Given the description of an element on the screen output the (x, y) to click on. 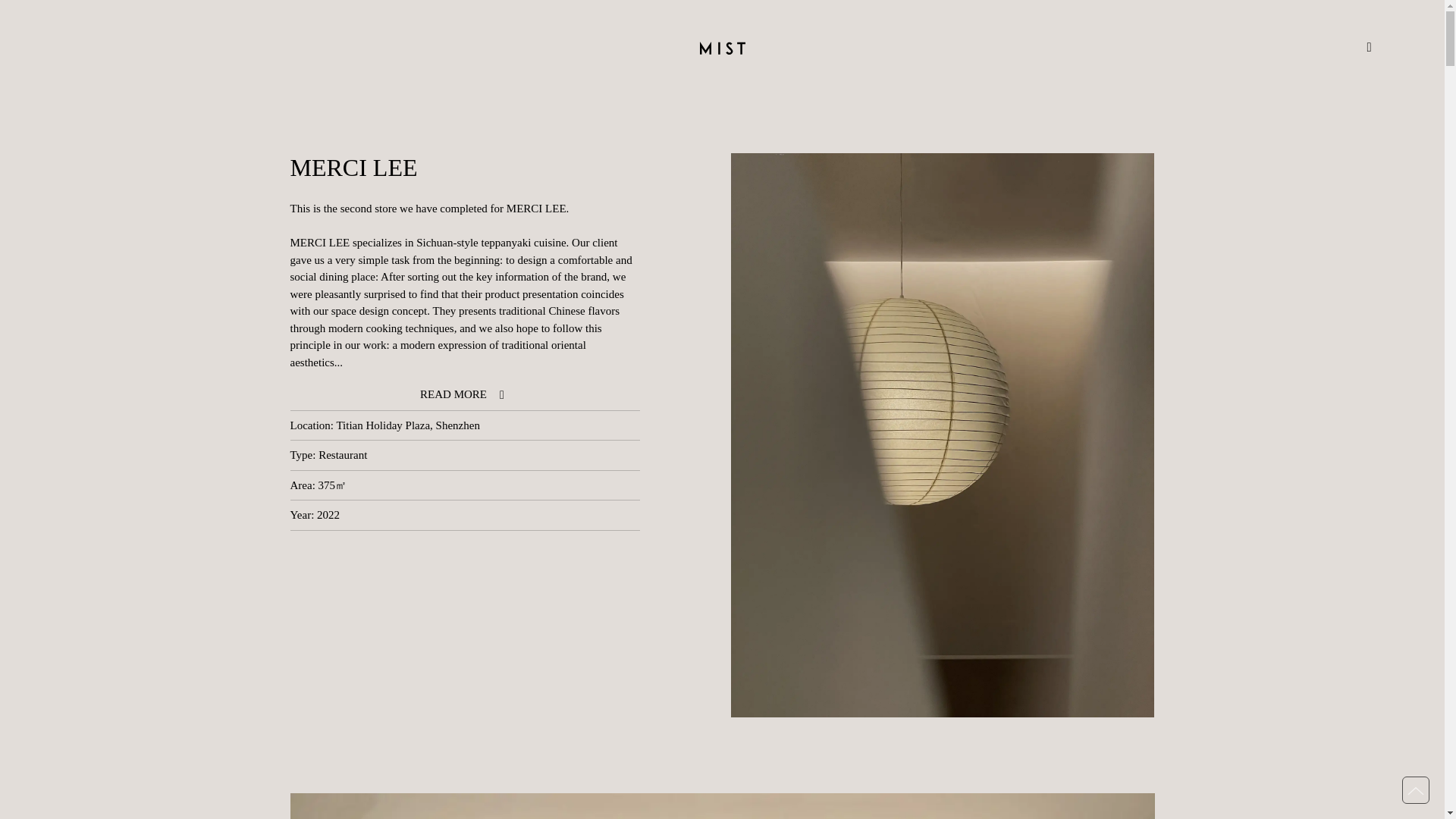
MENU (1348, 48)
READ MORE (464, 394)
